Given the description of an element on the screen output the (x, y) to click on. 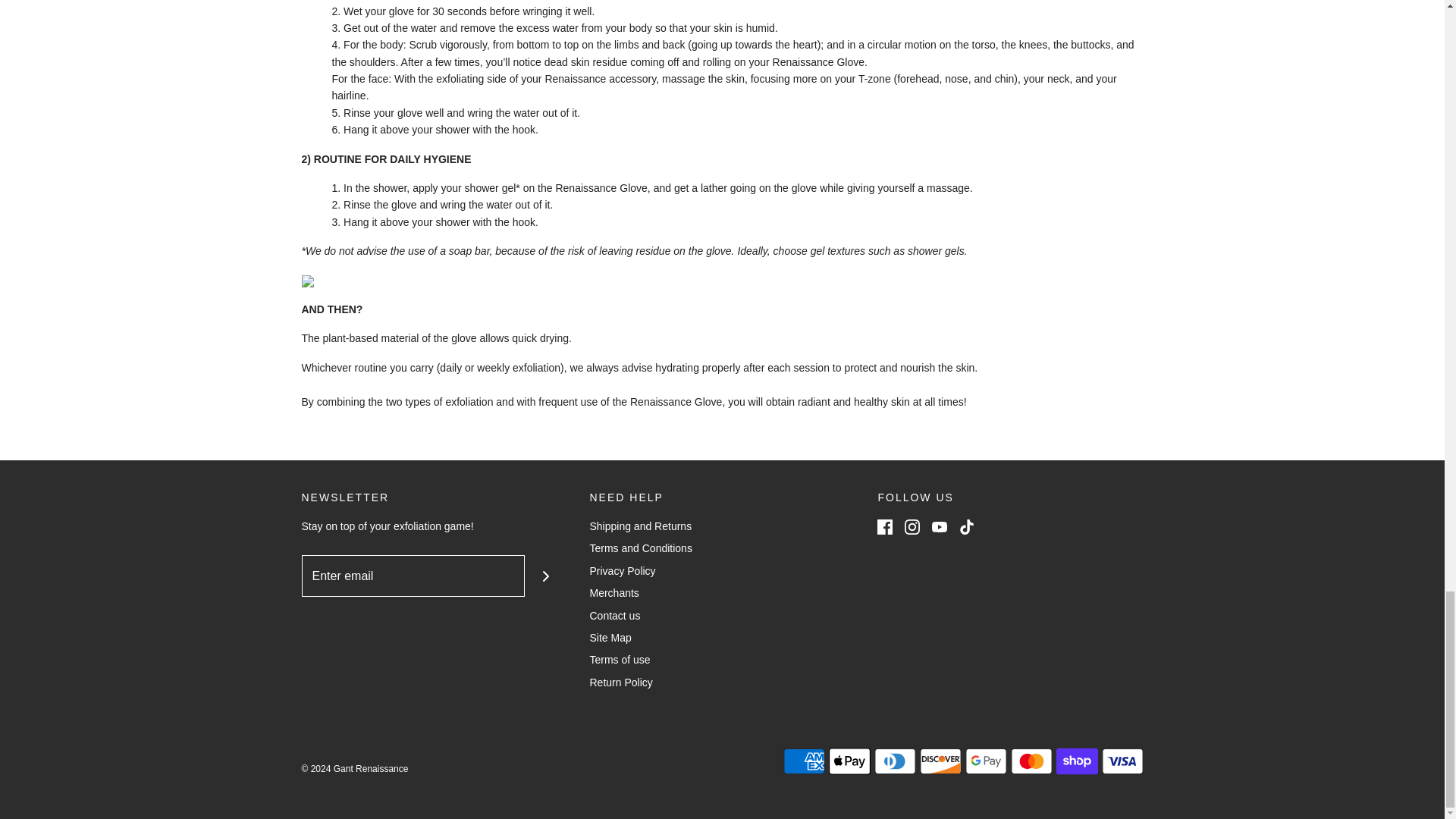
Apple Pay (848, 761)
Google Pay (984, 761)
TikTok icon (966, 526)
Instagram icon (912, 526)
American Express (803, 761)
YouTube icon (939, 526)
Facebook icon (884, 526)
Visa (1121, 761)
Shop Pay (1076, 761)
Discover (939, 761)
Diners Club (894, 761)
Mastercard (1030, 761)
